Given the description of an element on the screen output the (x, y) to click on. 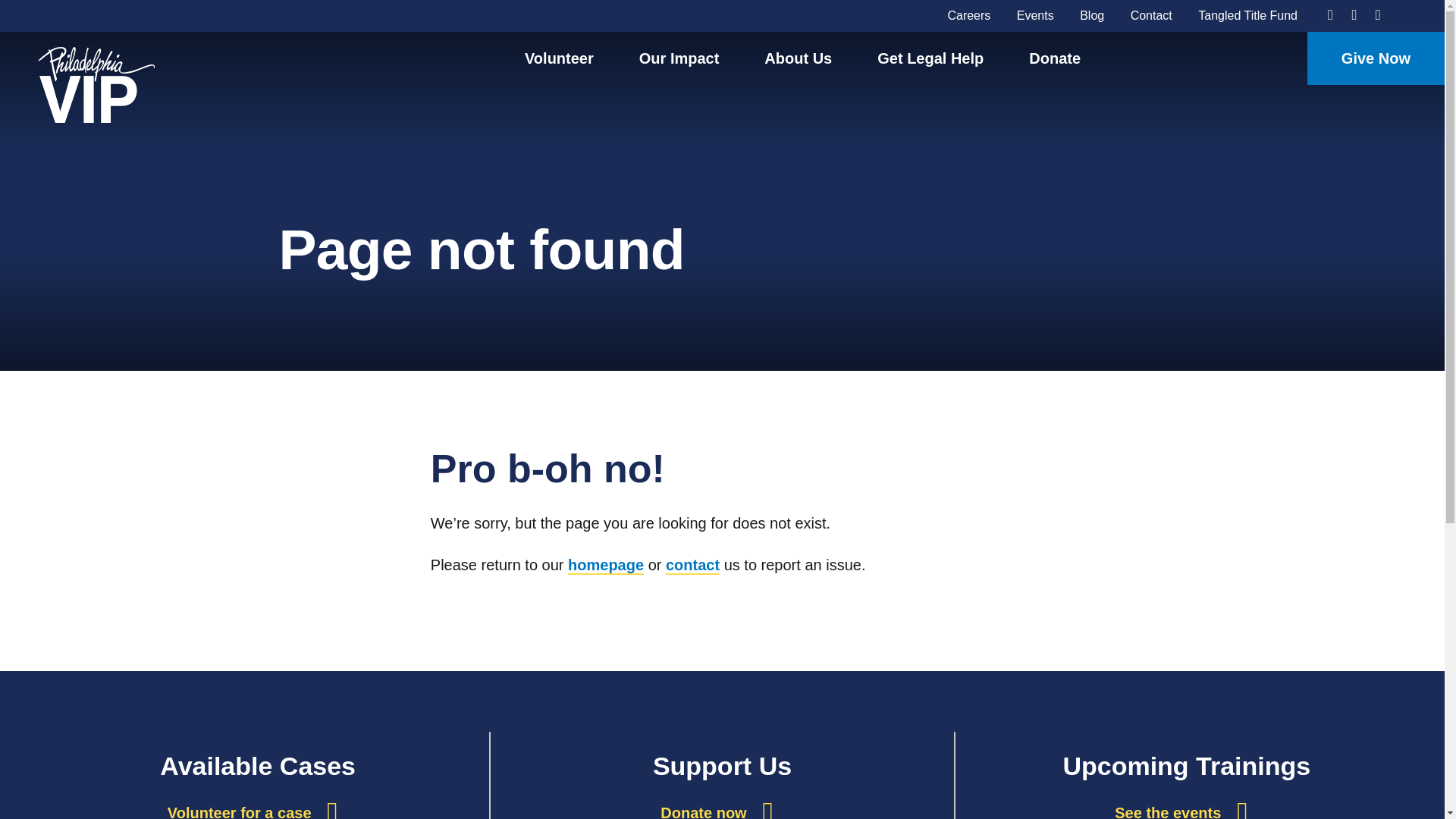
Submit (562, 445)
Events (1035, 15)
Our Impact (678, 58)
Get Legal Help (930, 58)
Blog (1091, 15)
Contact (1151, 15)
Volunteer (558, 58)
Careers (968, 15)
Donate (1054, 58)
Tangled Title Fund (1247, 15)
